Given the description of an element on the screen output the (x, y) to click on. 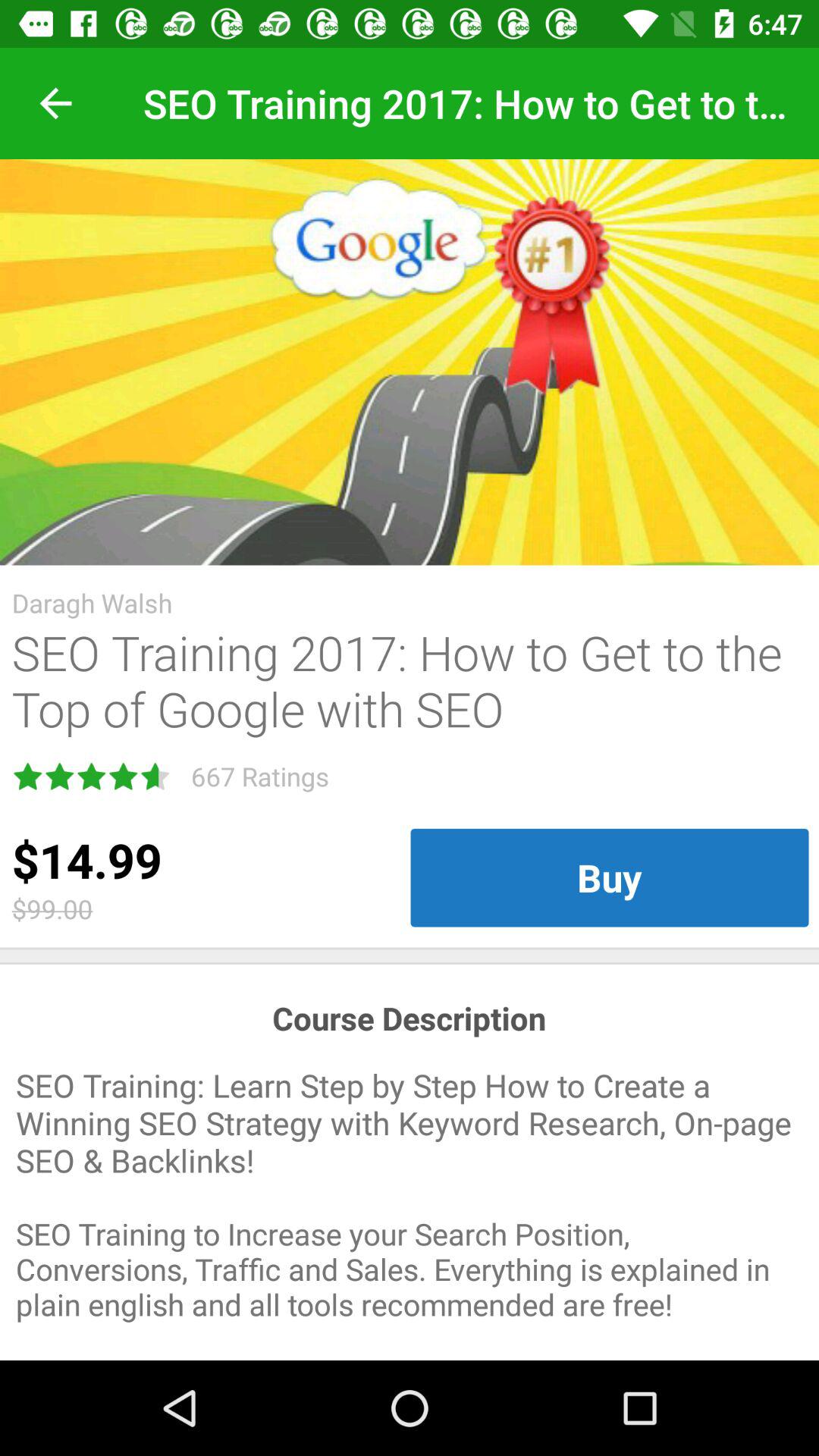
click the item at the top left corner (55, 103)
